Given the description of an element on the screen output the (x, y) to click on. 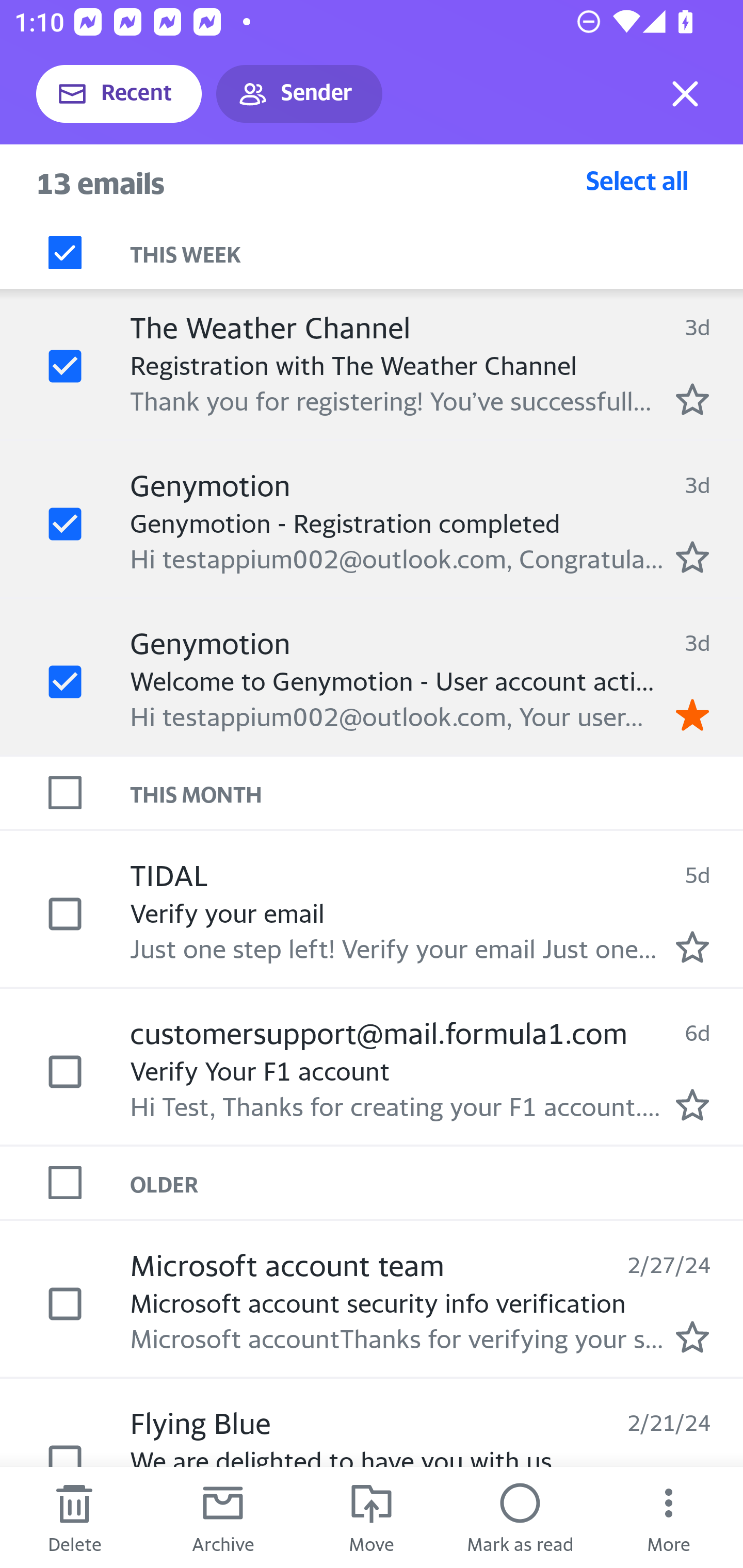
Sender (299, 93)
Exit selection mode (684, 93)
Select all (637, 180)
Mark as starred. (692, 399)
Mark as starred. (692, 557)
Remove star. (692, 714)
THIS MONTH (436, 792)
Mark as starred. (692, 946)
Mark as starred. (692, 1104)
OLDER (436, 1182)
Mark as starred. (692, 1336)
Delete (74, 1517)
Archive (222, 1517)
Move (371, 1517)
Mark as read (519, 1517)
More (668, 1517)
